Given the description of an element on the screen output the (x, y) to click on. 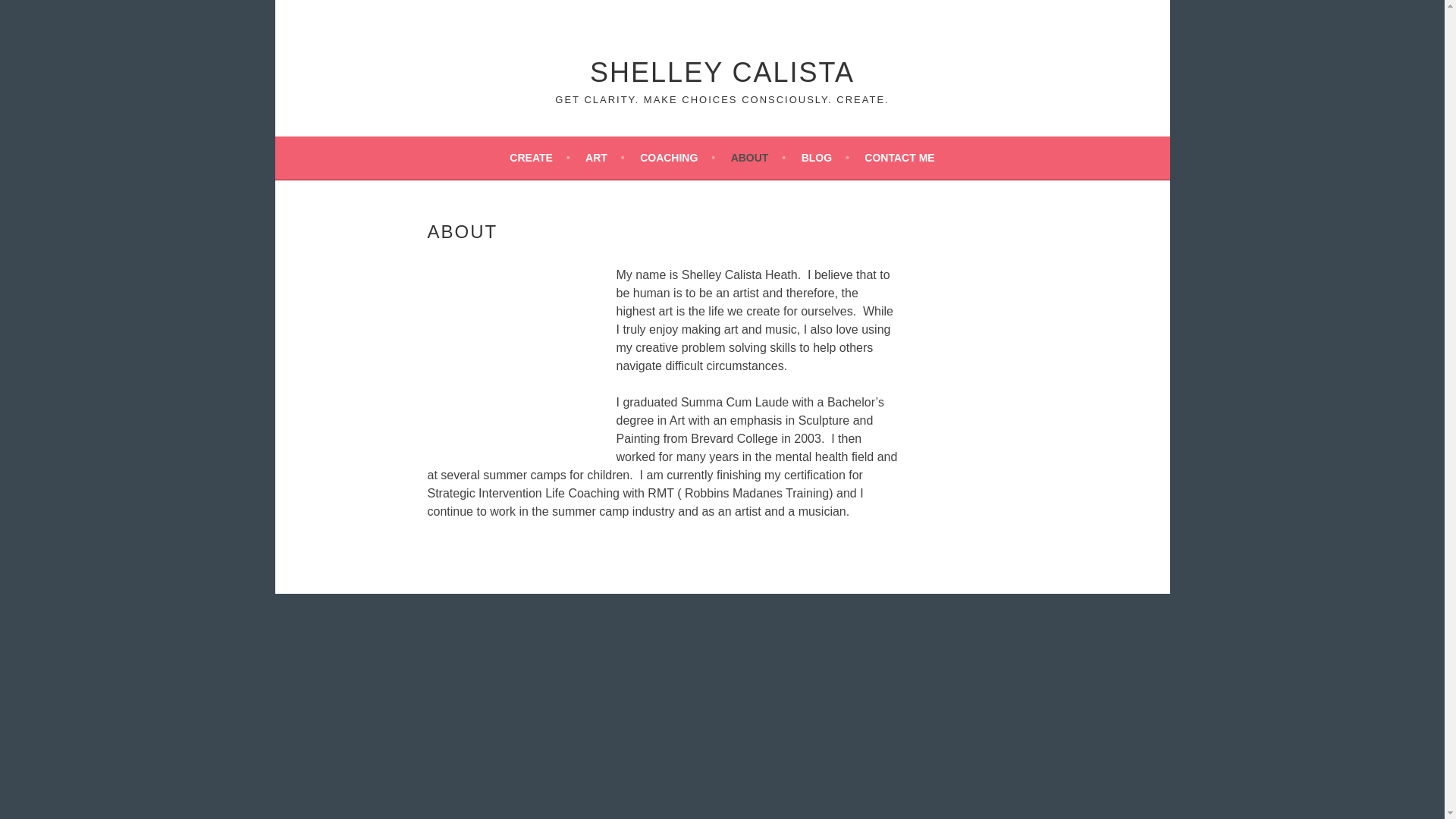
ART (604, 157)
Shelley Calista (721, 71)
SHELLEY CALISTA (721, 71)
COACHING (677, 157)
BLOG (825, 157)
CONTACT ME (899, 157)
ABOUT (758, 157)
CREATE (539, 157)
